Given the description of an element on the screen output the (x, y) to click on. 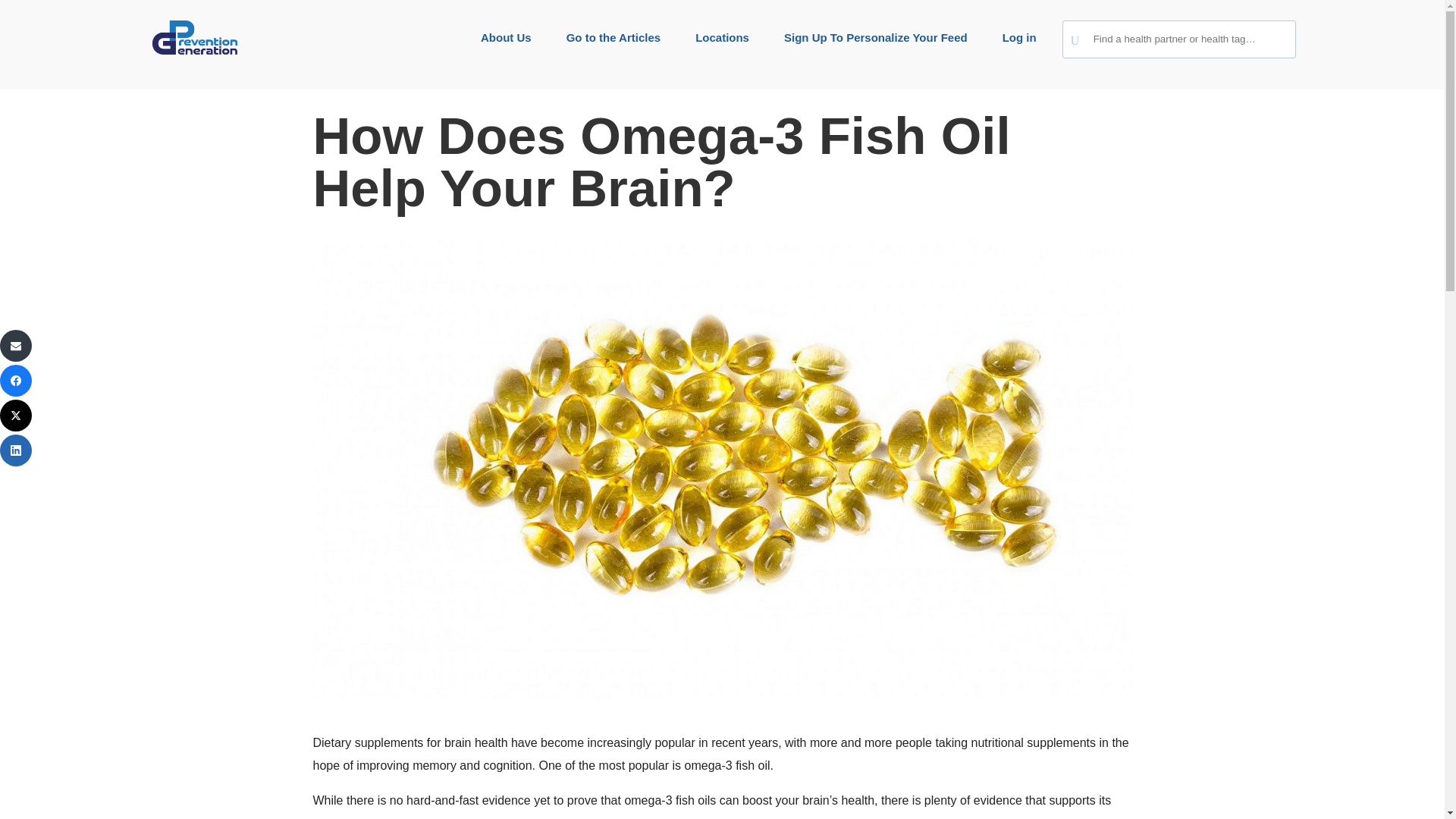
Locations (722, 37)
Log In (611, 174)
Log in (1019, 37)
Sign Up To Personalize Your Feed (876, 37)
pg-logo (194, 37)
About Us (505, 37)
Go to the Articles (613, 37)
